Given the description of an element on the screen output the (x, y) to click on. 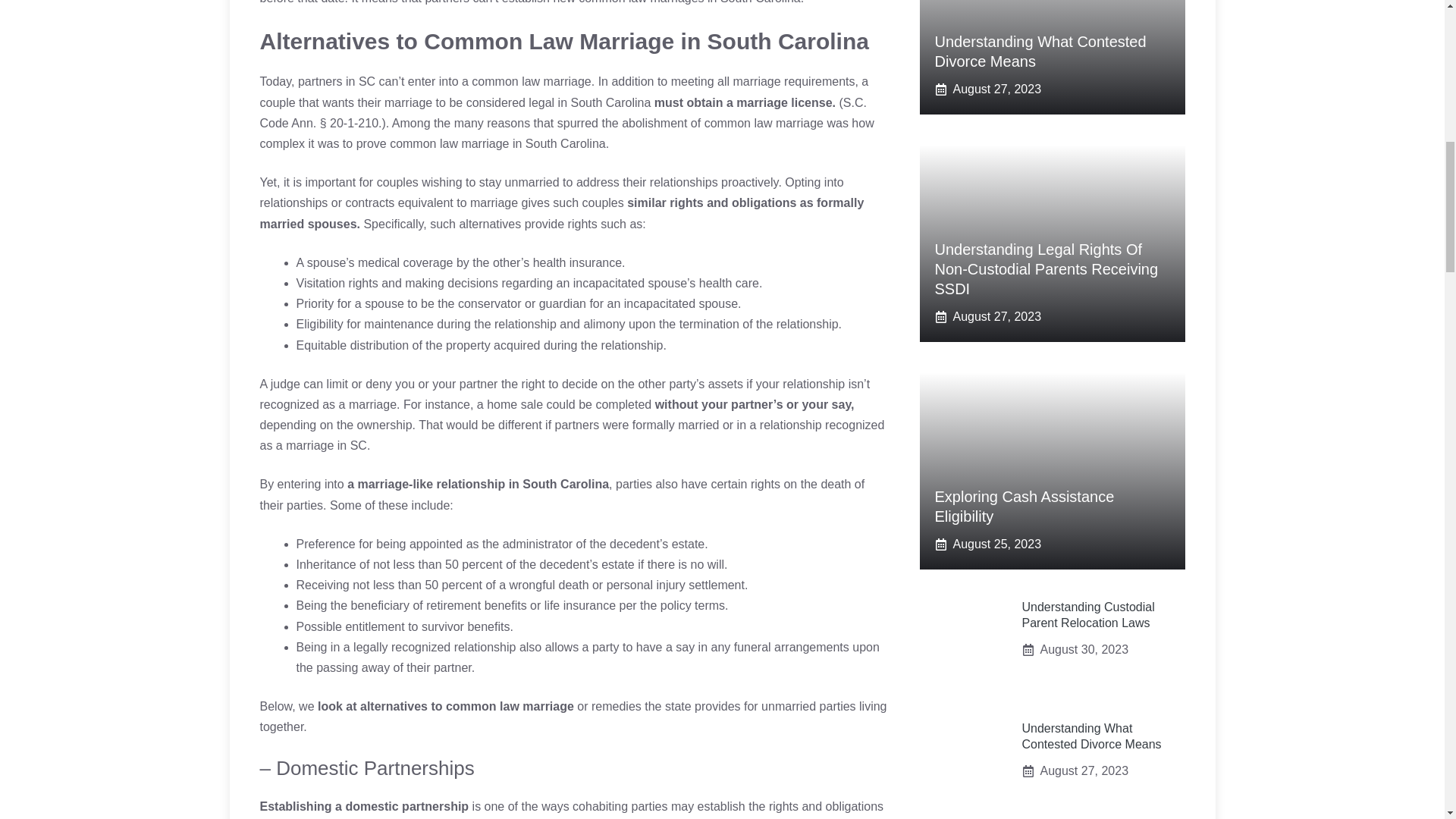
distribution of the property (420, 344)
